Given the description of an element on the screen output the (x, y) to click on. 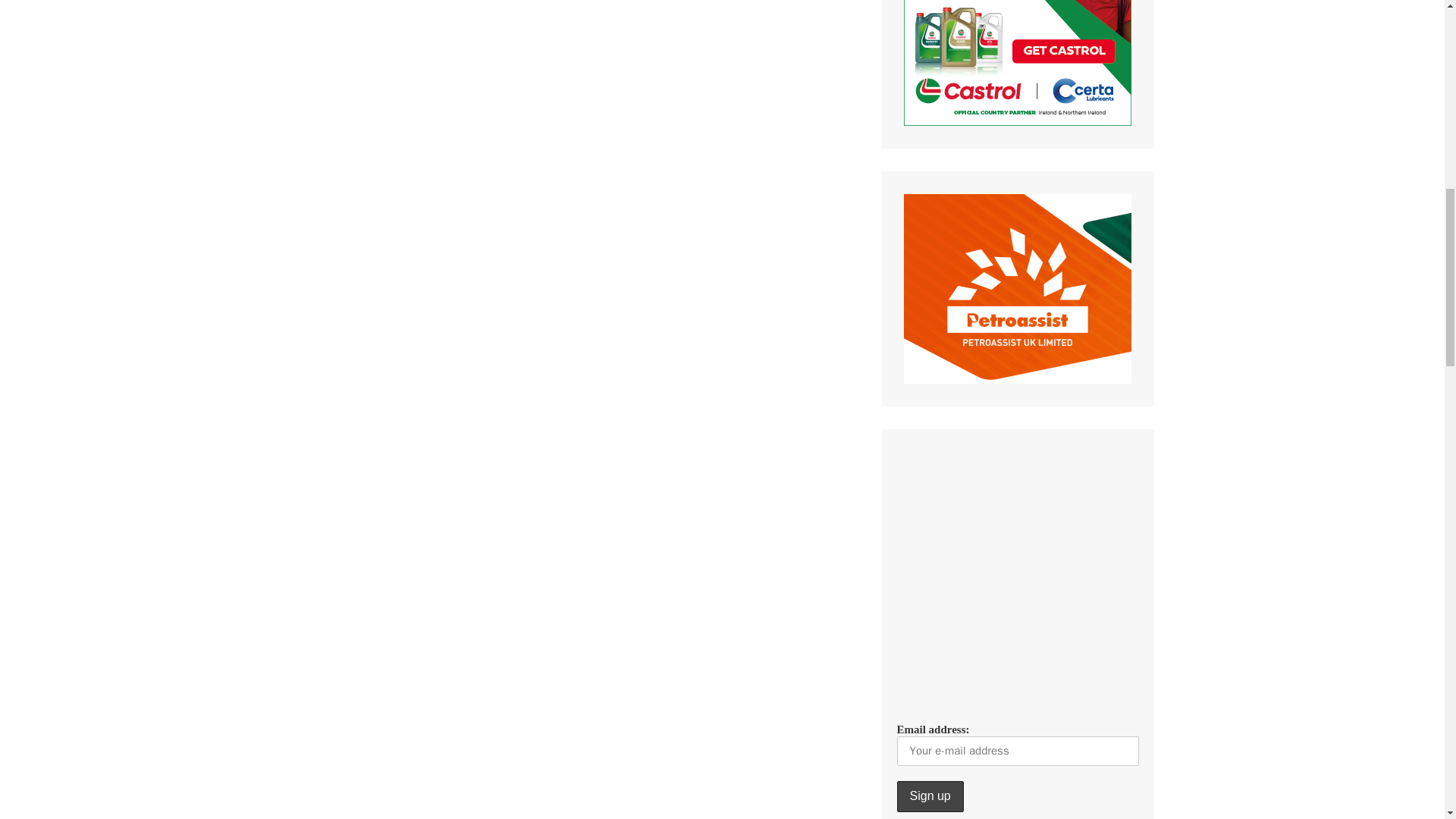
Sign up (929, 796)
